Given the description of an element on the screen output the (x, y) to click on. 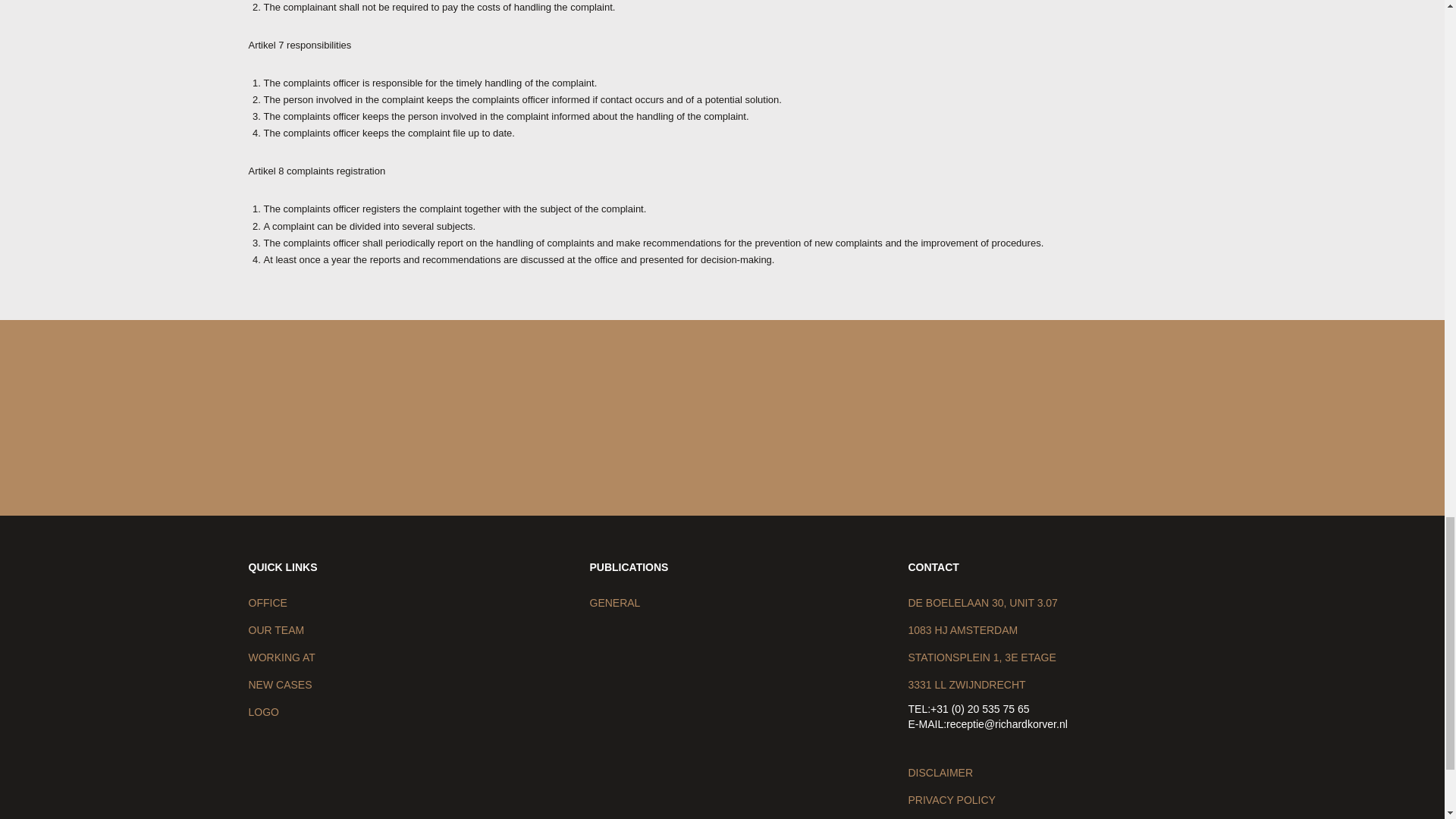
LOGO (263, 711)
GENERAL (614, 603)
PRIVACY POLICY (951, 799)
NEW CASES (280, 684)
OUR TEAM (276, 630)
DISCLAIMER (941, 772)
WORKING AT (281, 657)
OFFICE (267, 603)
